Given the description of an element on the screen output the (x, y) to click on. 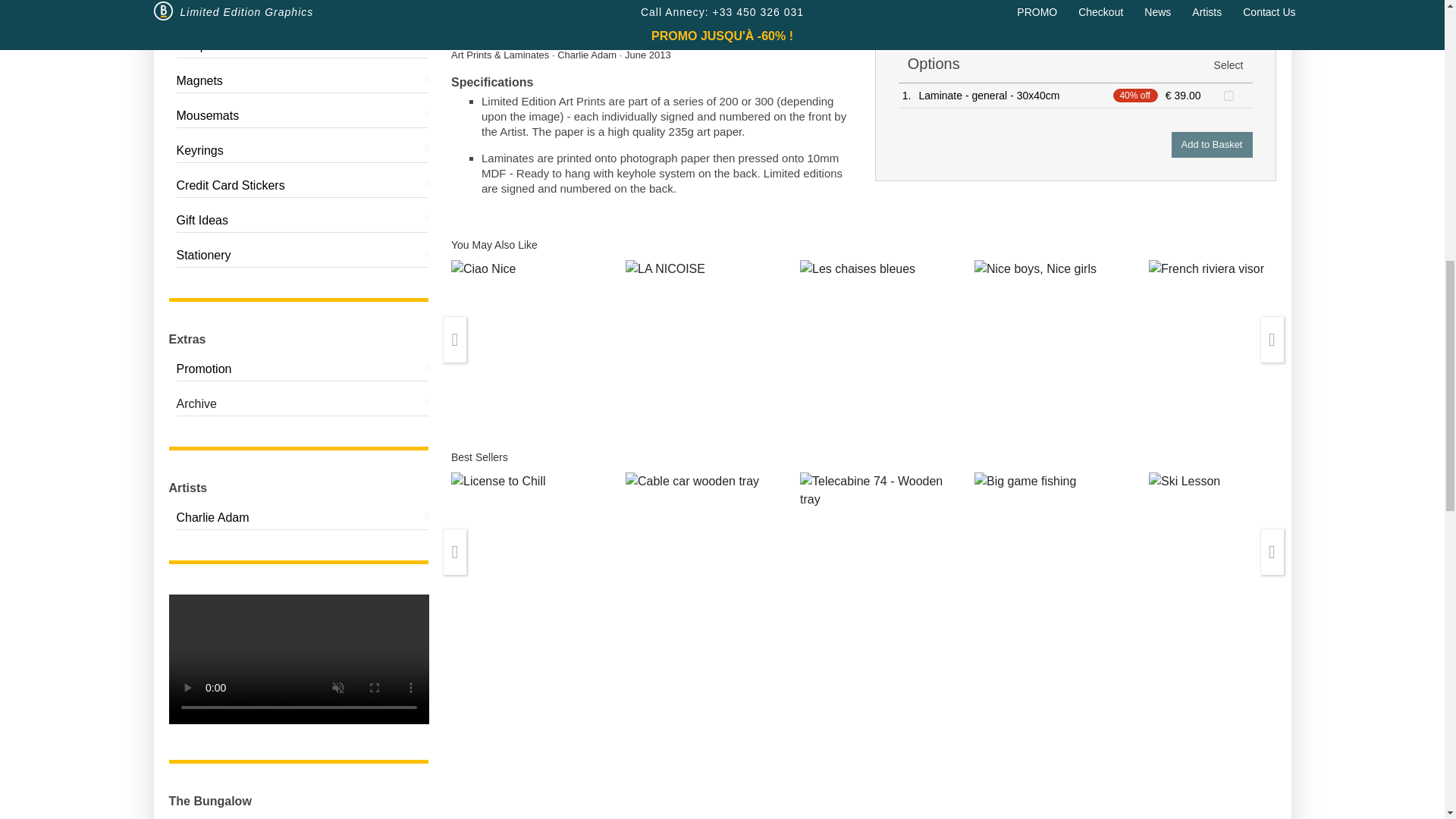
101564 (1228, 95)
